Given the description of an element on the screen output the (x, y) to click on. 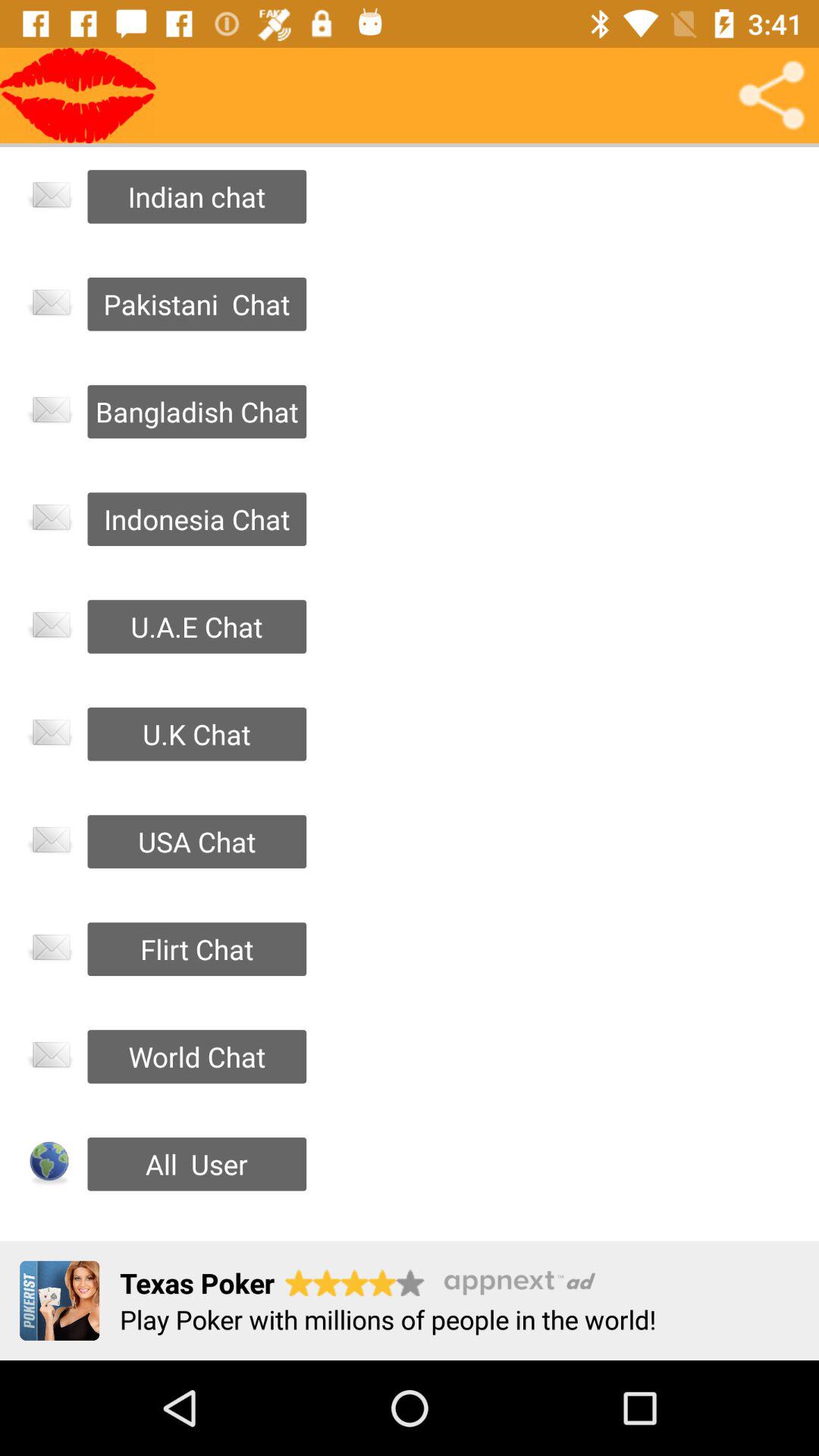
click the item at the top right corner (771, 95)
